Given the description of an element on the screen output the (x, y) to click on. 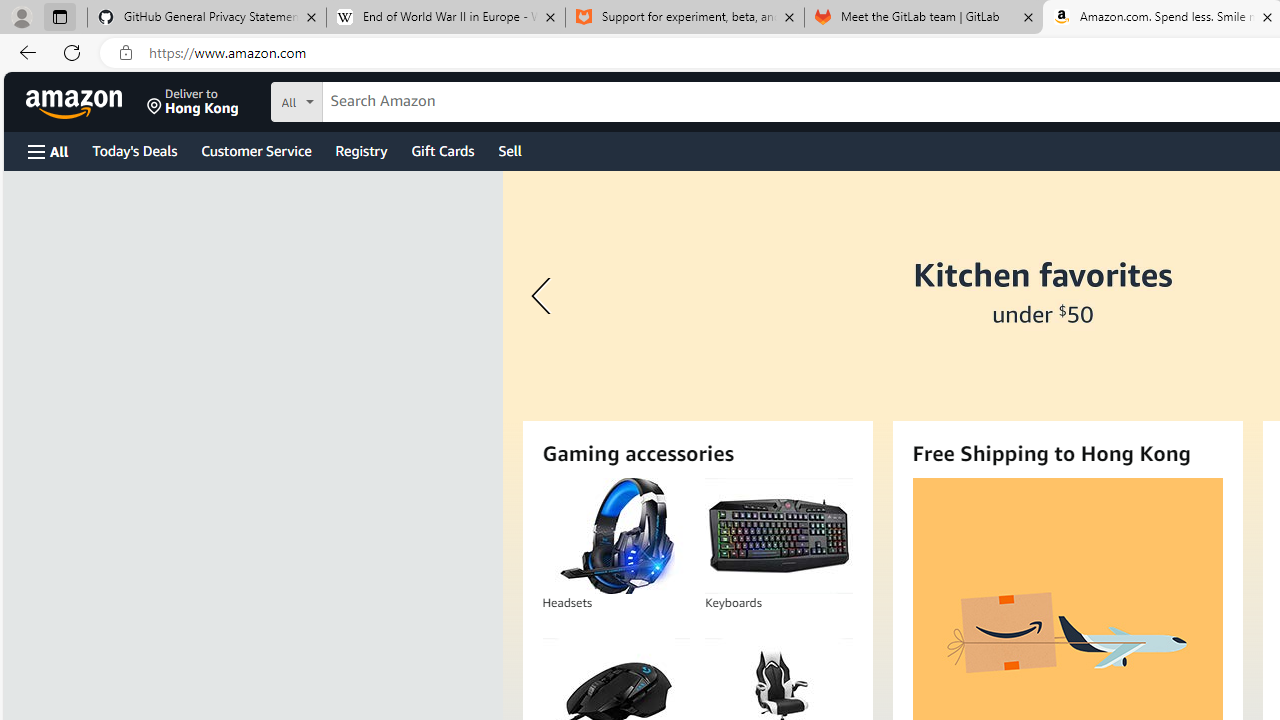
Sell (509, 150)
Keyboards (778, 536)
Today's Deals (134, 150)
Amazon (76, 101)
Search in (371, 99)
Previous slide (544, 296)
Keyboards (778, 536)
GitHub General Privacy Statement - GitHub Docs (207, 17)
